Given the description of an element on the screen output the (x, y) to click on. 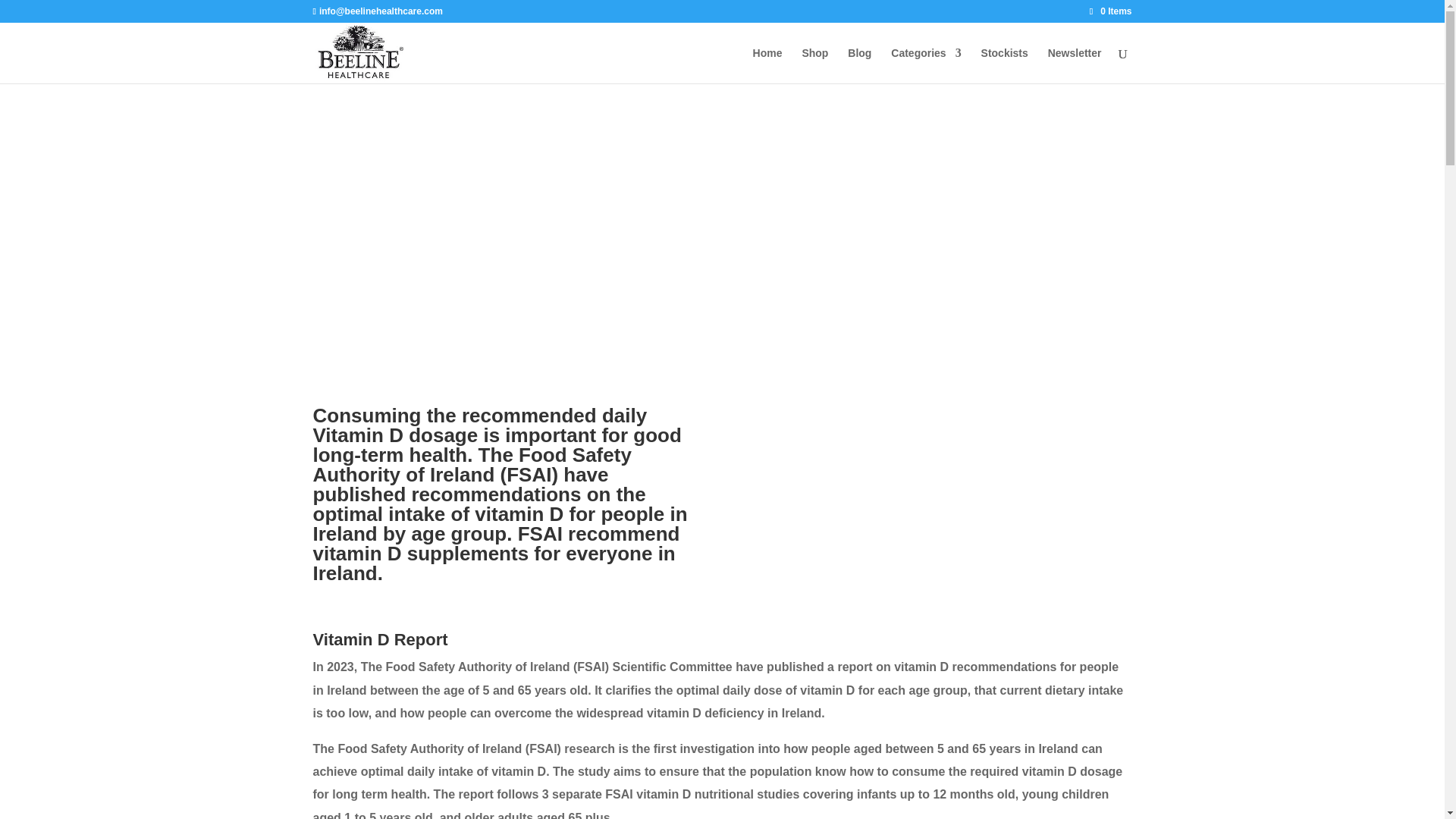
Stockists (1004, 65)
Newsletter (1075, 65)
0 Items (1110, 10)
Categories (925, 65)
